Given the description of an element on the screen output the (x, y) to click on. 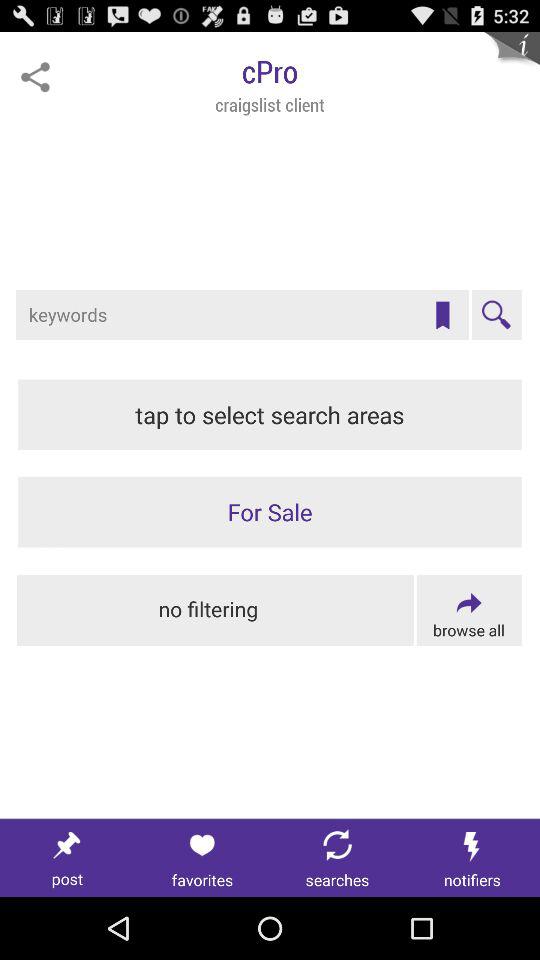
to share (35, 77)
